Given the description of an element on the screen output the (x, y) to click on. 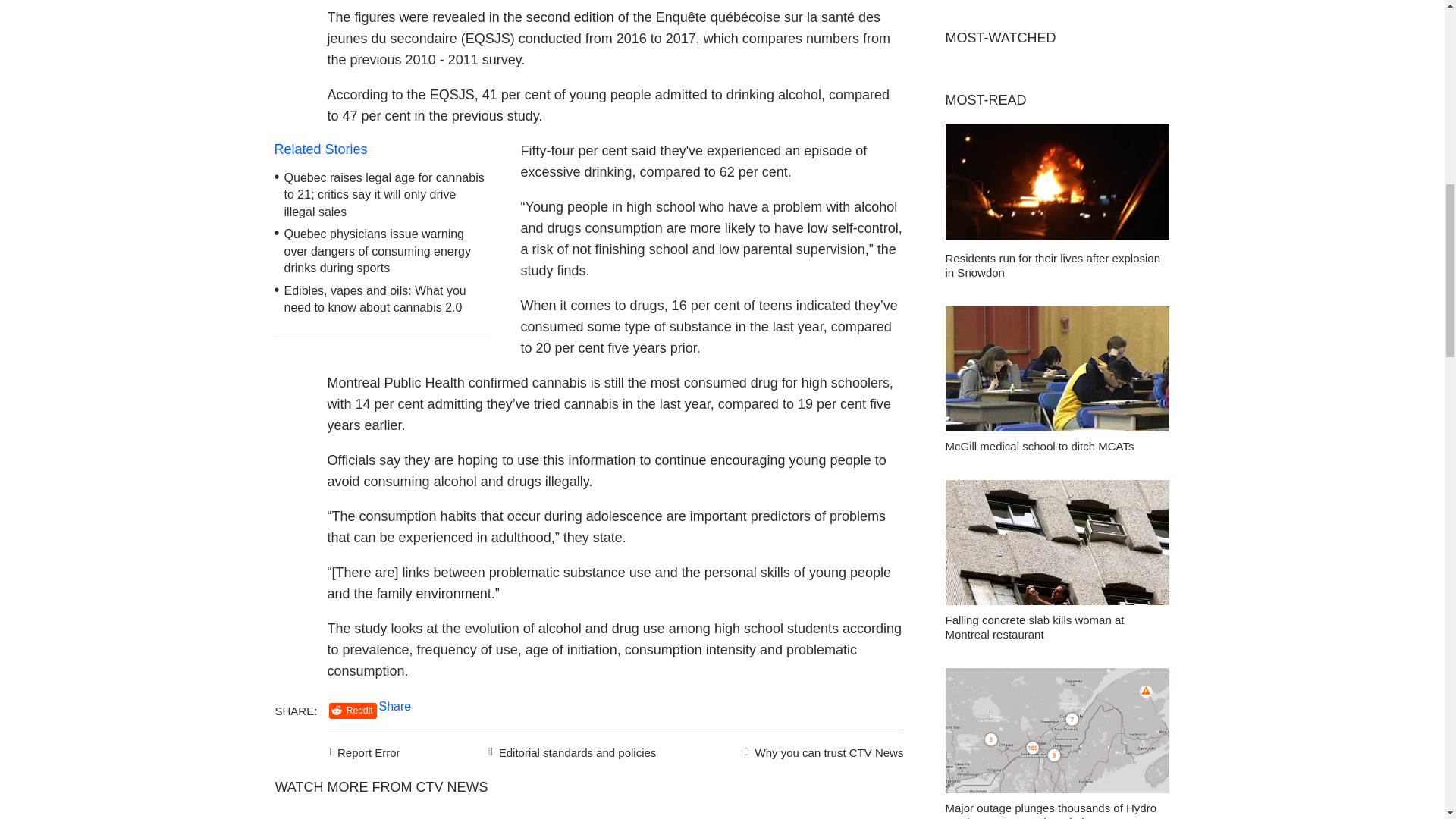
Report Error (363, 750)
Share (395, 706)
Reddit (353, 710)
Editorial standards and policies (569, 750)
Why you can trust CTV News (820, 750)
